Given the description of an element on the screen output the (x, y) to click on. 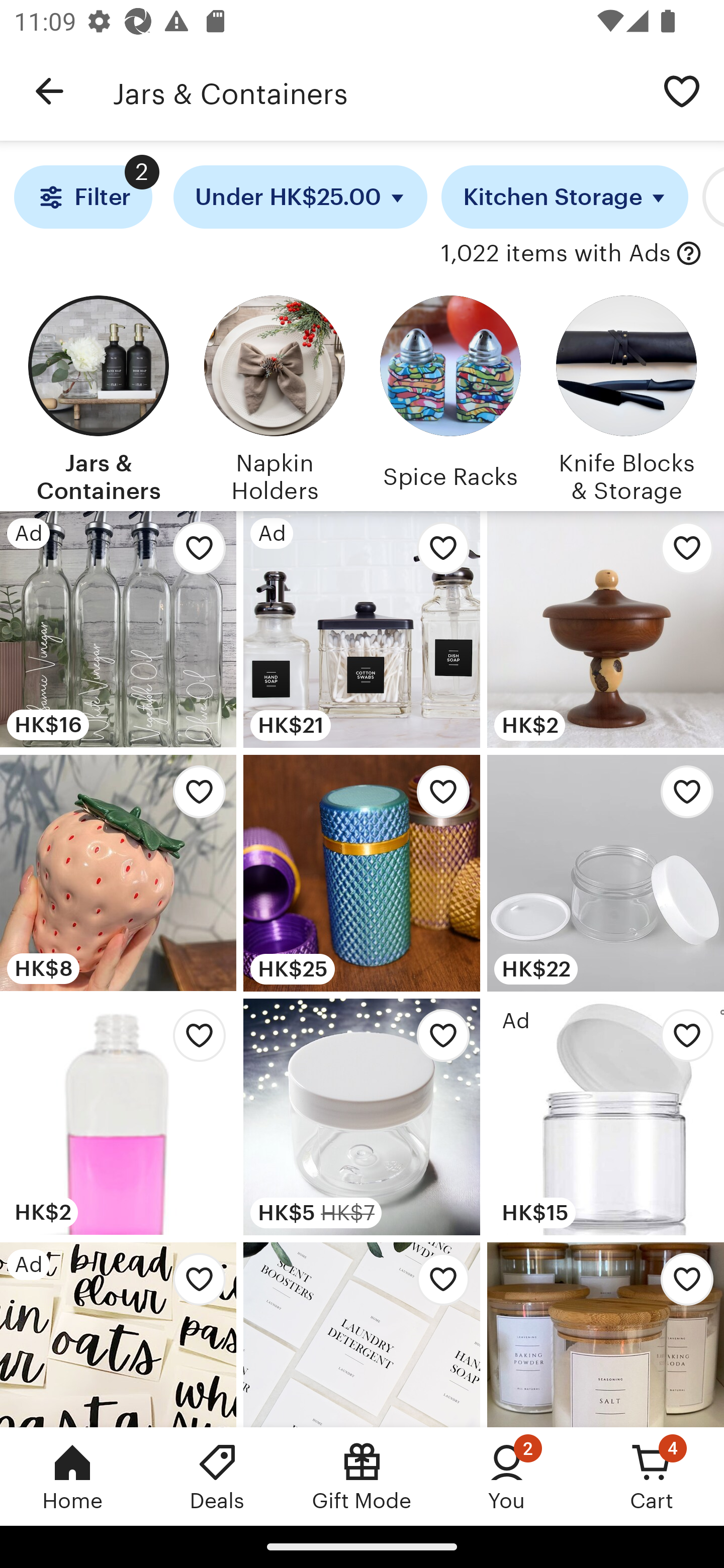
Navigate up (49, 91)
Save search (681, 90)
Jars & Containers (375, 91)
Filter (82, 197)
Under HK$25.00 (300, 197)
Kitchen Storage (564, 197)
1,022 items with Ads (555, 253)
with Ads (688, 253)
Jars & Containers (97, 395)
Napkin Holders (273, 395)
Spice Racks (449, 395)
Knife Blocks & Storage (625, 395)
Add SOLD Vtg* Wooden Bon Bon Jar to favorites (681, 553)
Deals (216, 1475)
Gift Mode (361, 1475)
You, 2 new notifications You (506, 1475)
Cart, 4 new notifications Cart (651, 1475)
